Given the description of an element on the screen output the (x, y) to click on. 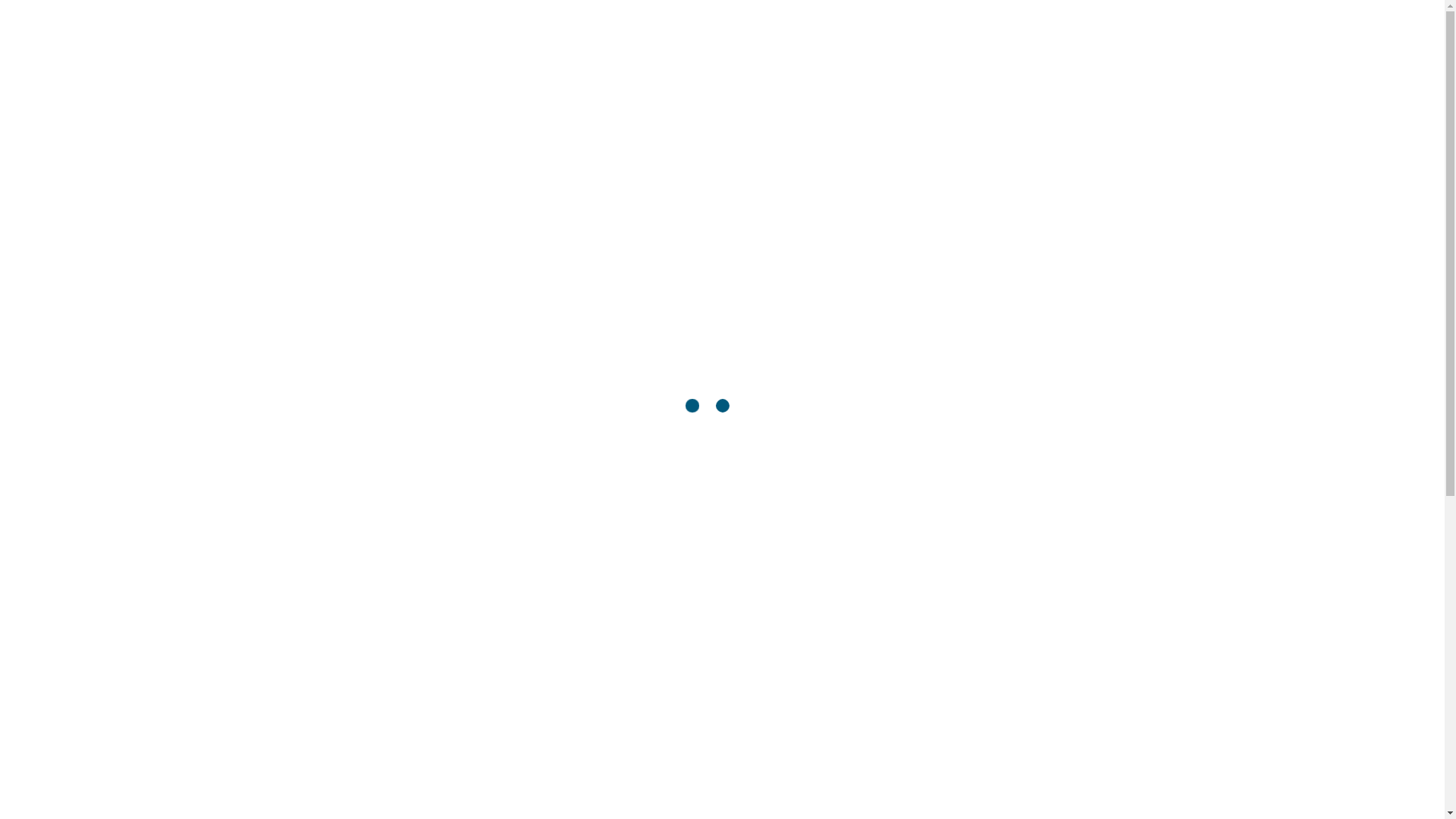
FERRY Element type: text (819, 67)
HOME Element type: text (618, 67)
ACCOMMODATION Element type: text (718, 67)
BOOK ONLINE Element type: text (1103, 68)
ABOUT US Element type: text (996, 67)
EXPLORE Element type: text (902, 67)
